Given the description of an element on the screen output the (x, y) to click on. 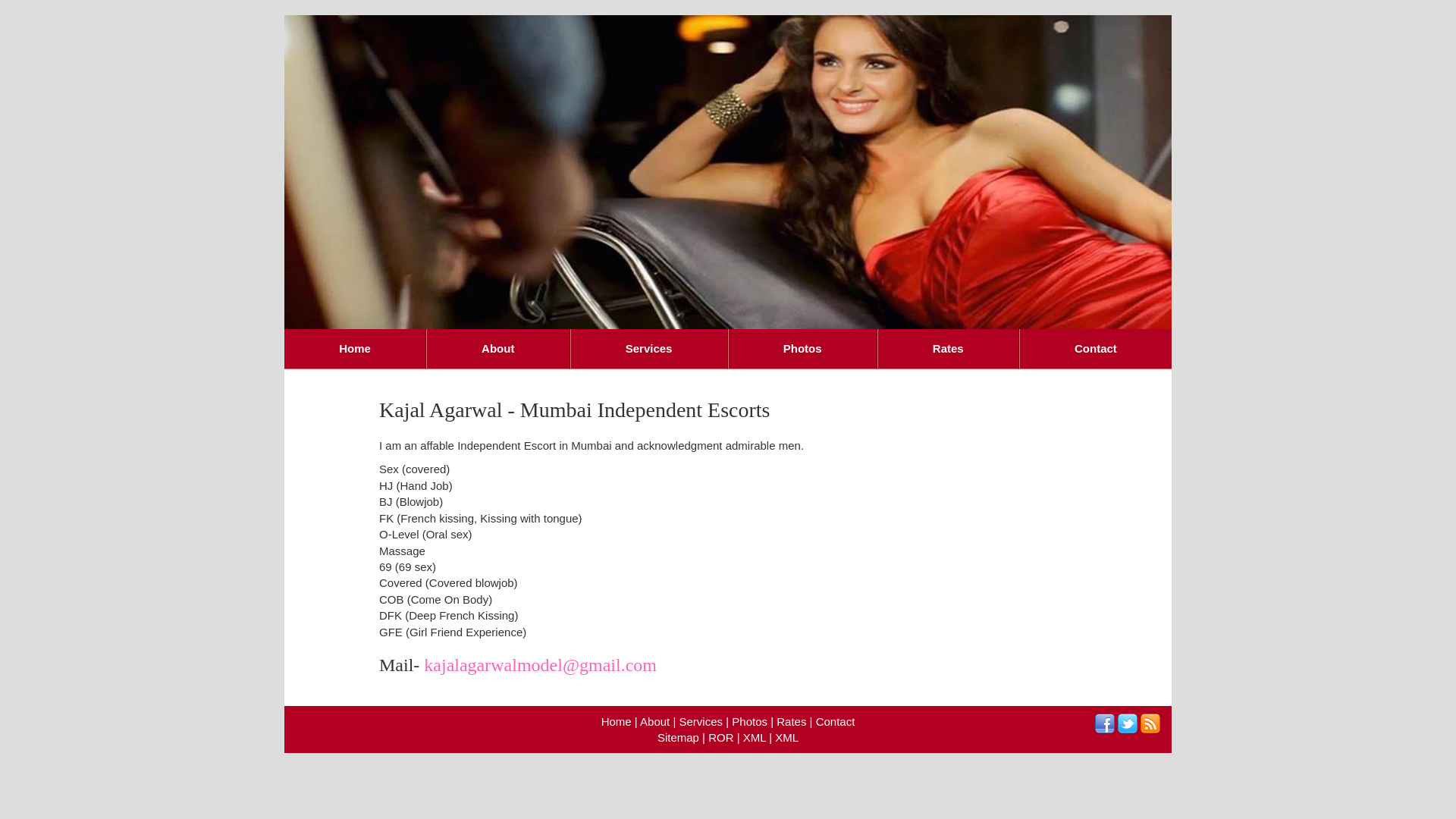
XML Element type: text (786, 737)
Services Element type: text (649, 348)
About Element type: text (654, 721)
Contact Element type: text (835, 721)
Home Element type: text (616, 721)
Rates Element type: text (791, 721)
Photos Element type: text (749, 721)
Photos Element type: text (802, 348)
kajalagarwalmodel@gmail.com Element type: text (539, 664)
Home Element type: text (355, 348)
Rates Element type: text (948, 348)
About Element type: text (498, 348)
Contact Element type: text (1095, 348)
XML Element type: text (754, 737)
ROR Element type: text (720, 737)
Services Element type: text (701, 721)
Sitemap Element type: text (678, 737)
